Given the description of an element on the screen output the (x, y) to click on. 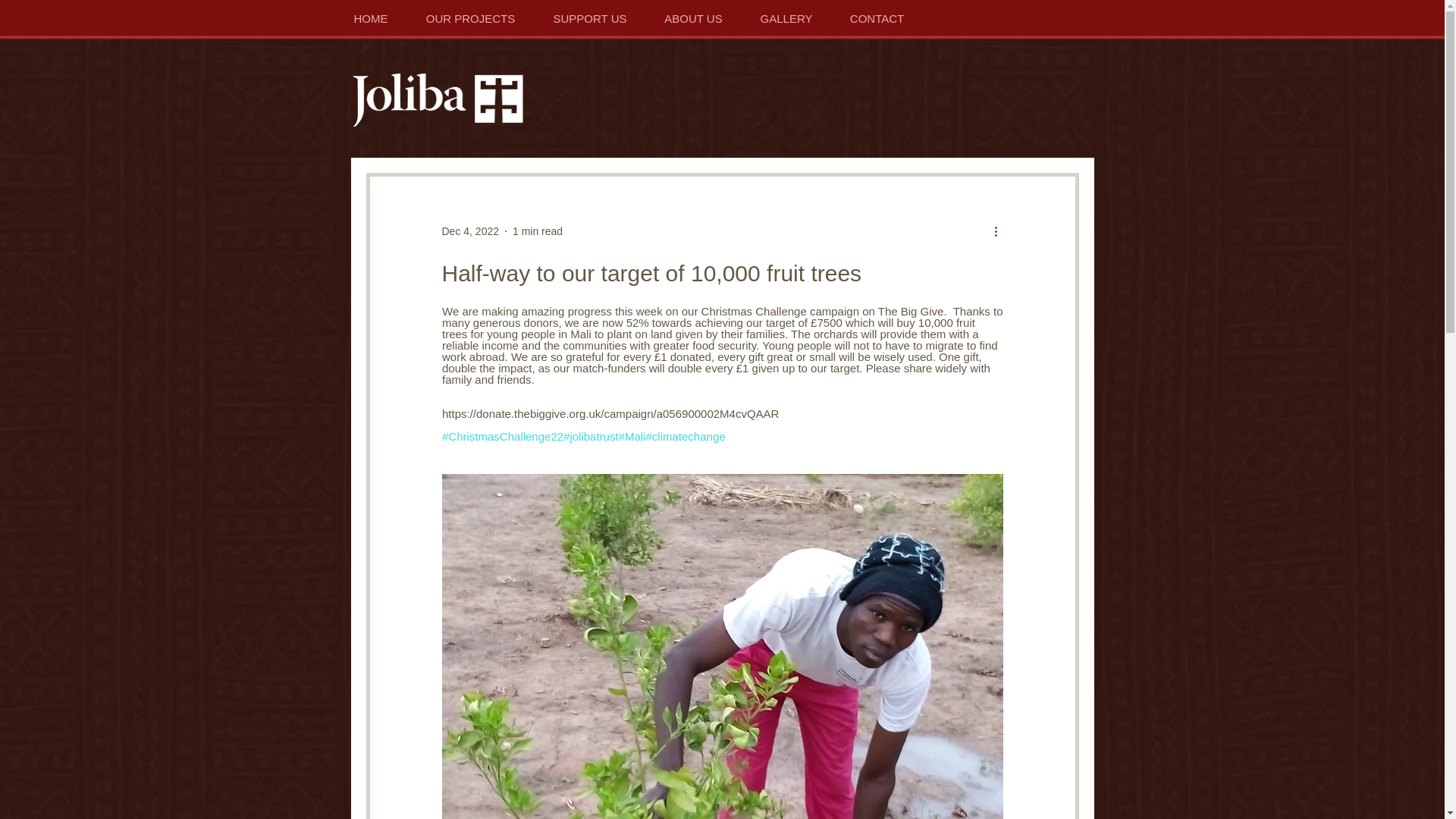
ABOUT US (693, 18)
HOME (371, 18)
1 min read (537, 230)
Dec 4, 2022 (470, 230)
CONTACT (874, 18)
GALLERY (786, 18)
